Given the description of an element on the screen output the (x, y) to click on. 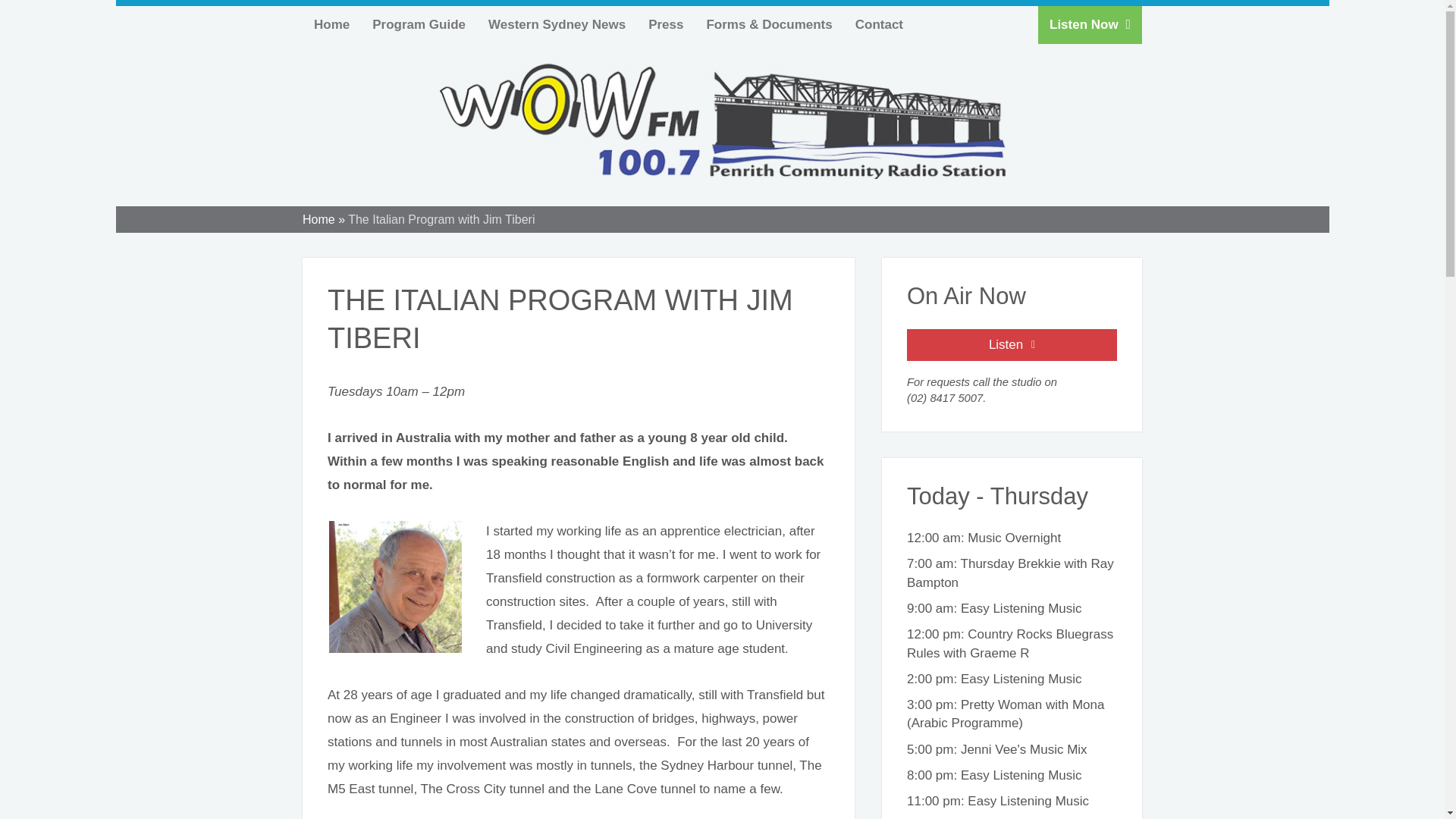
Listen (1011, 345)
Home (318, 219)
Press (665, 24)
Home (331, 24)
Western Sydney News (557, 24)
Program Guide (419, 24)
Western Sydney News (557, 24)
Program Guide (419, 24)
Press (665, 24)
Contact (879, 24)
Home (331, 24)
Listen Now (1011, 345)
WowFM 100.7 (722, 121)
Listen Now (1089, 24)
